Given the description of an element on the screen output the (x, y) to click on. 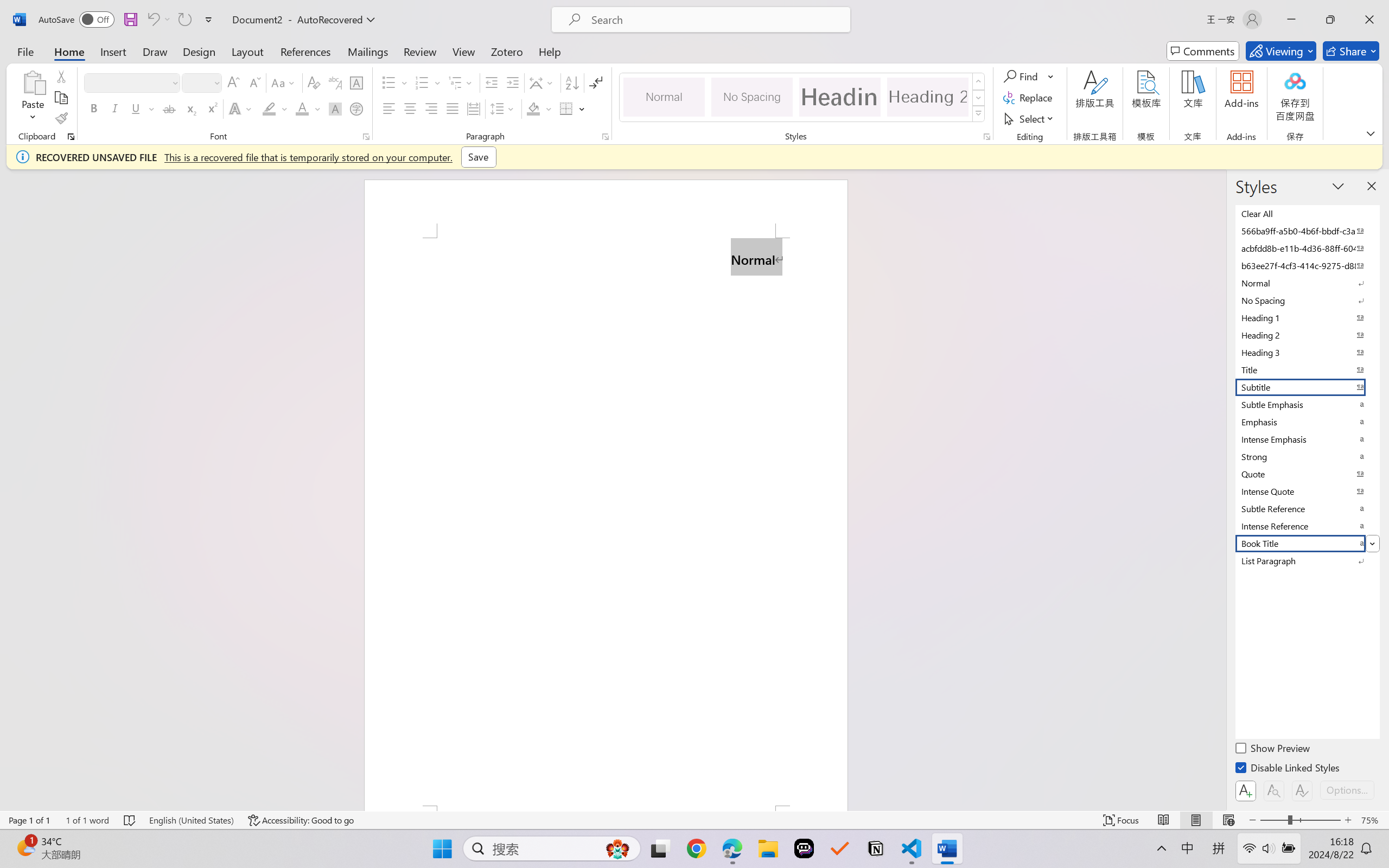
Can't Repeat (184, 19)
Cut (60, 75)
Replace... (1029, 97)
Office Clipboard... (70, 136)
acbfdd8b-e11b-4d36-88ff-6049b138f862 (1306, 247)
Show Preview (1273, 749)
Intense Emphasis (1306, 438)
No Spacing (1306, 300)
Enclose Characters... (356, 108)
